Given the description of an element on the screen output the (x, y) to click on. 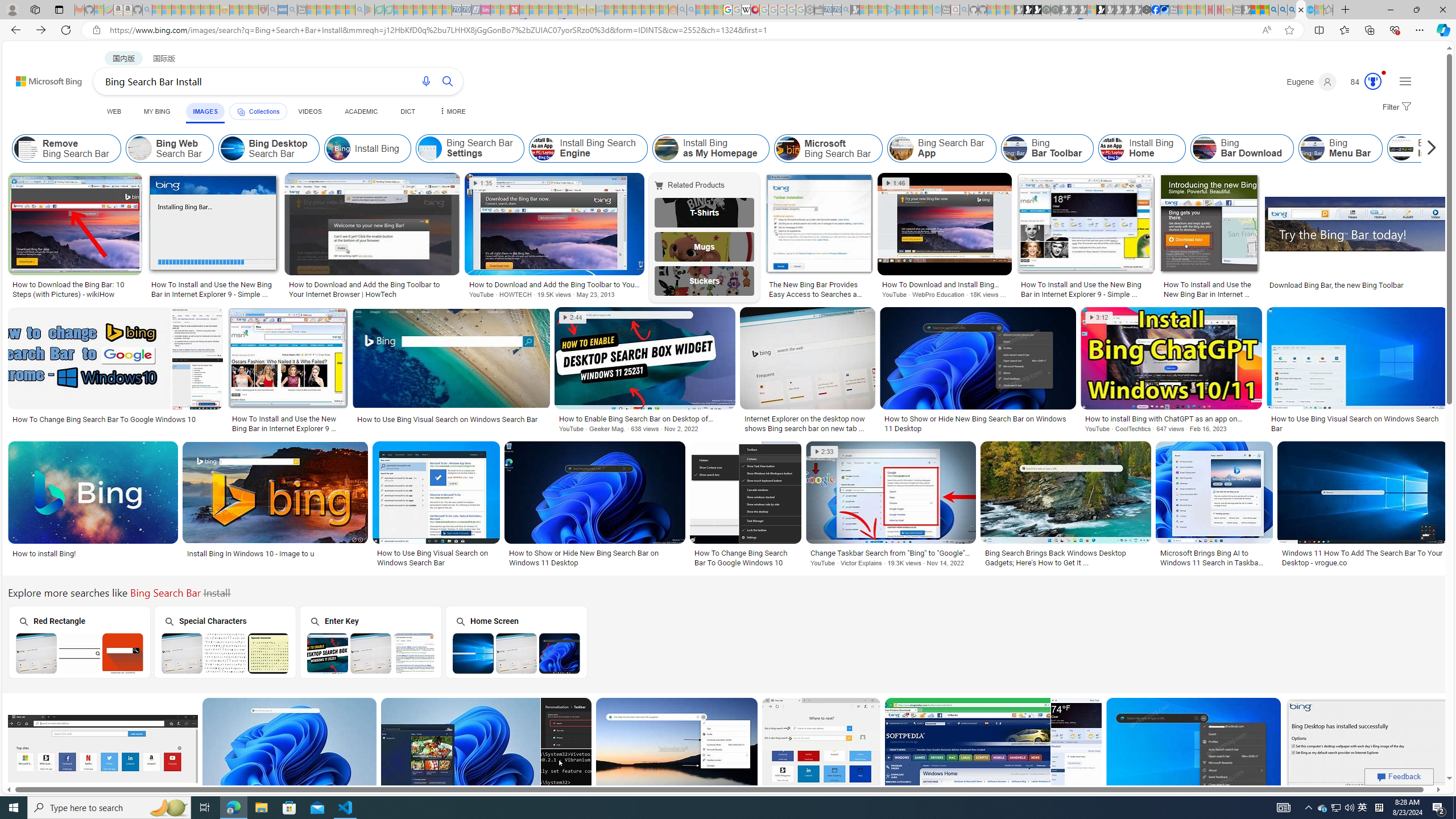
AutomationID: serp_medal_svg (1372, 81)
Red Rectangle Bing Search Bar Red Rectangle (78, 642)
Bing Stickers (704, 280)
1:46 (895, 183)
